Given the description of an element on the screen output the (x, y) to click on. 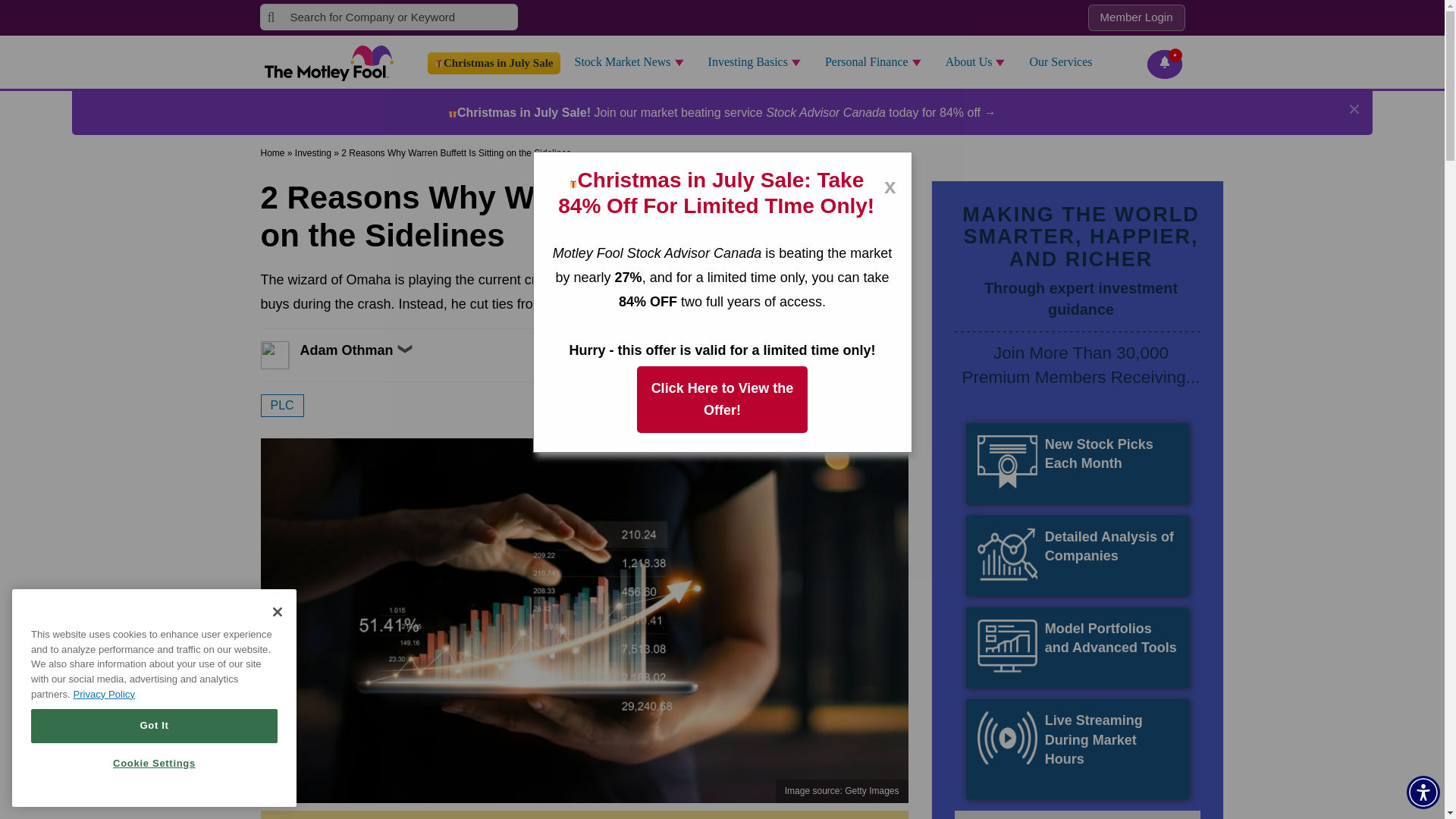
Member Login (1136, 17)
Christmas in July Sale (494, 63)
Investing Basics (758, 62)
See more articles about PLC (282, 404)
Adam Othman (290, 355)
Accessibility Menu (1422, 792)
Stock Market News (632, 62)
